Given the description of an element on the screen output the (x, y) to click on. 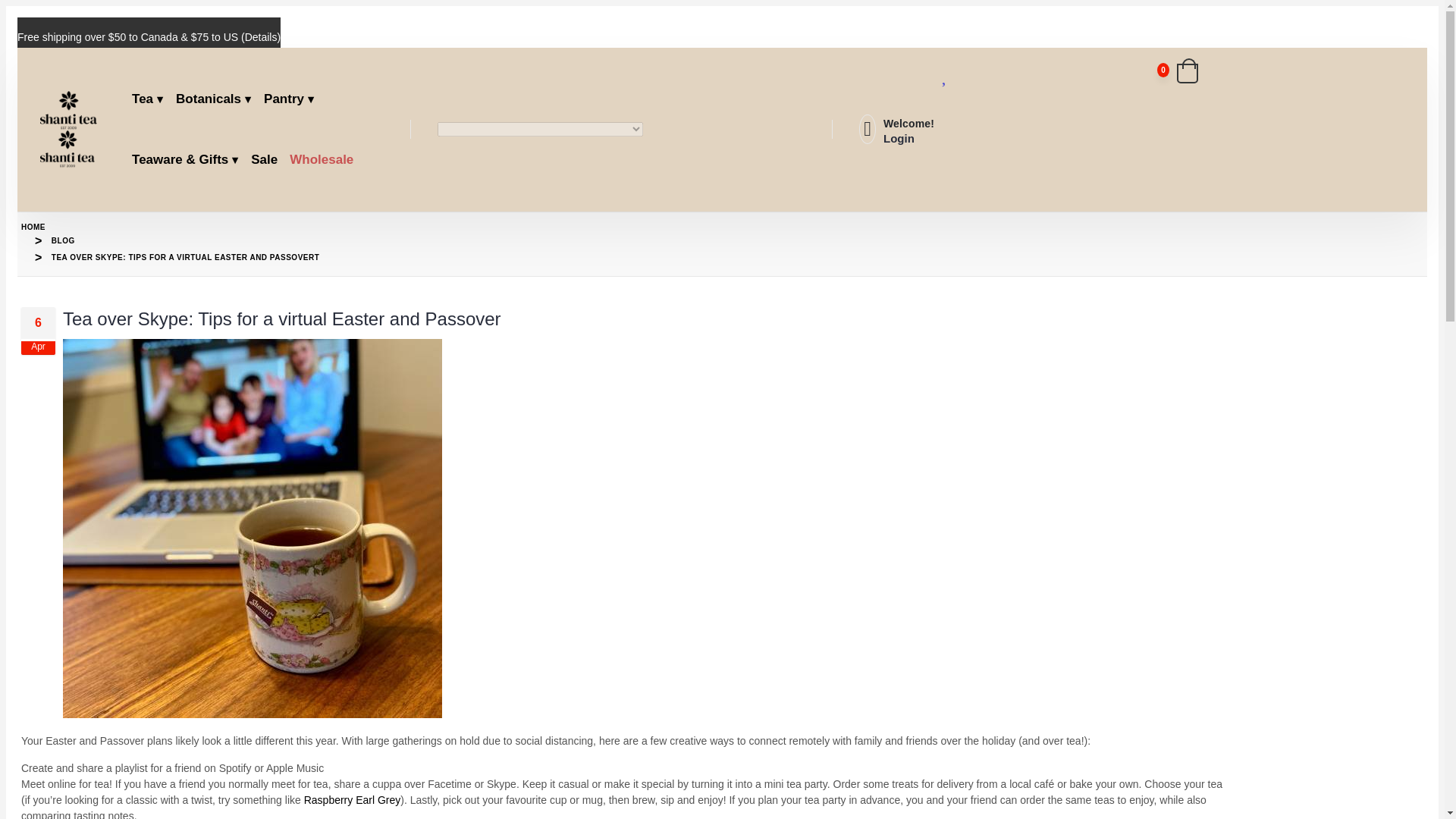
Wholesale (325, 159)
Tea (153, 99)
Sale (267, 159)
Botanicals (219, 99)
Pantry (293, 99)
